Given the description of an element on the screen output the (x, y) to click on. 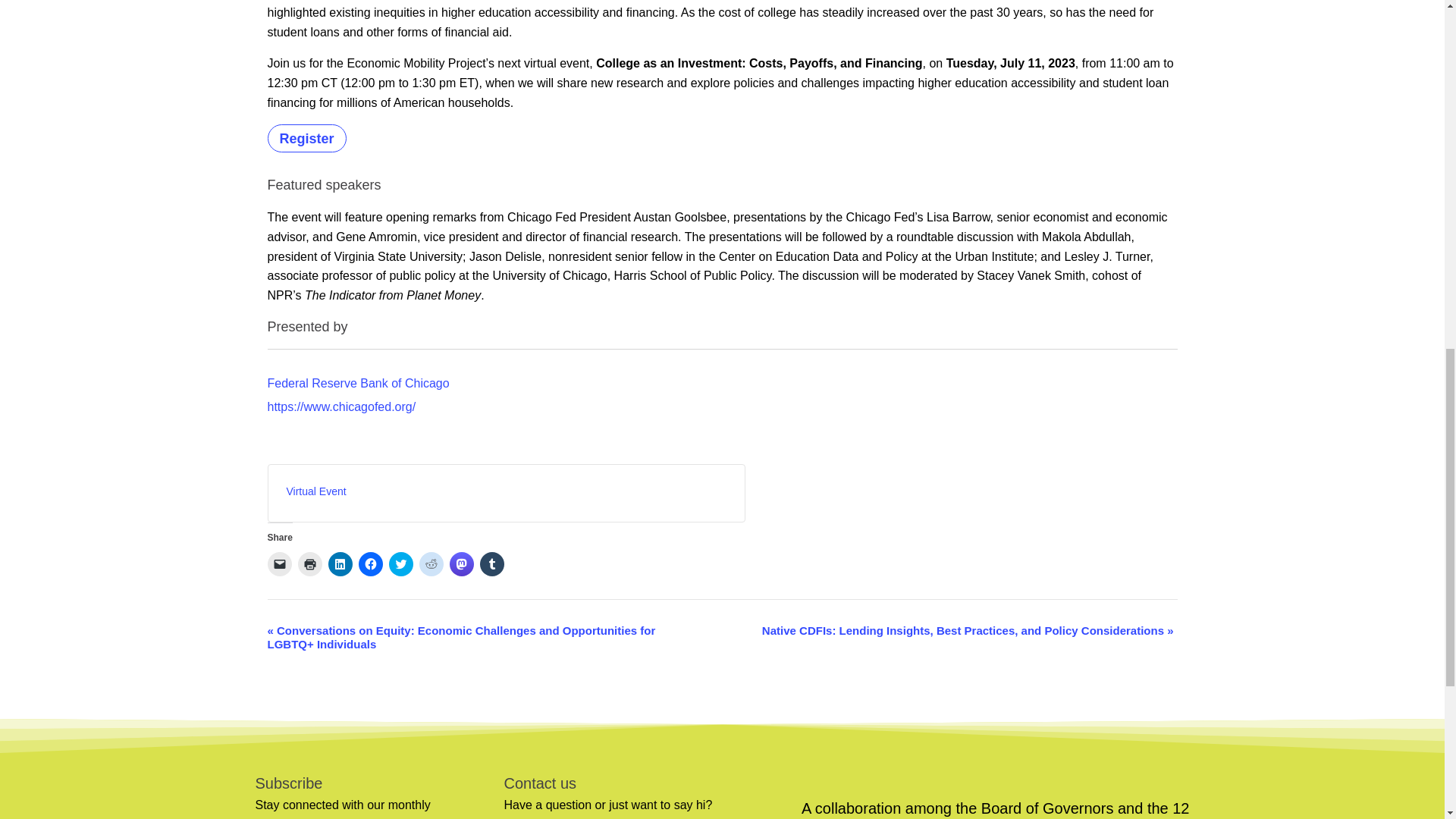
Click to print (309, 564)
Virtual Event (316, 491)
Click to share on LinkedIn (339, 564)
Click to share on Twitter (400, 564)
Click to share on Mastodon (460, 564)
Federal Reserve Bank of Chicago (357, 382)
Click to email a link to a friend (278, 564)
Click to share on Facebook (369, 564)
Click to share on Tumblr (491, 564)
Click to share on Reddit (430, 564)
